Given the description of an element on the screen output the (x, y) to click on. 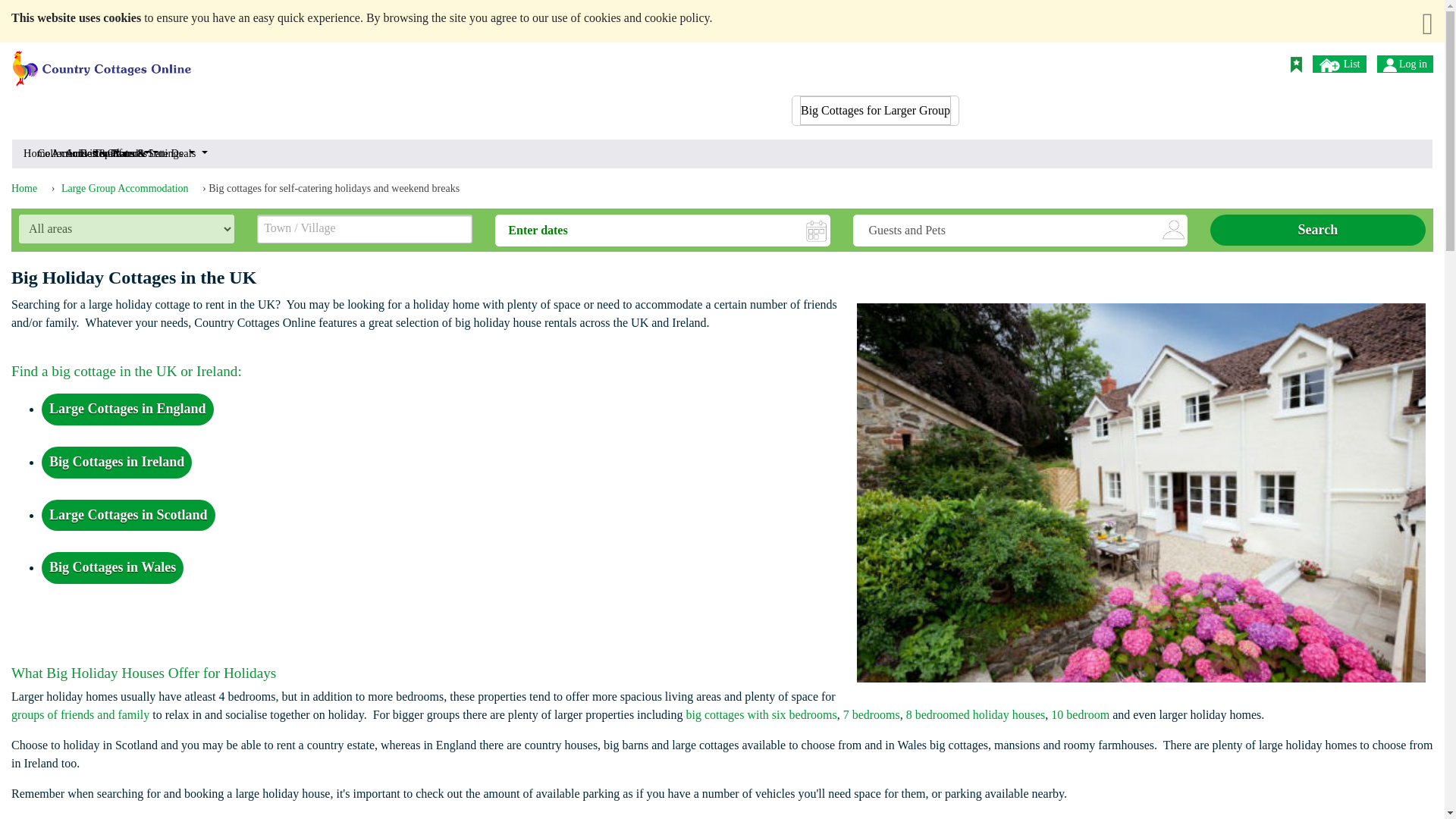
search (937, 62)
List (1339, 63)
 Guests and Pets  (1020, 230)
Big Cottages for Larger Groups  (874, 110)
list your property (1329, 64)
search (937, 62)
Log in (1389, 65)
country cottages online (102, 62)
Search (1317, 230)
Log in (1404, 63)
